Given the description of an element on the screen output the (x, y) to click on. 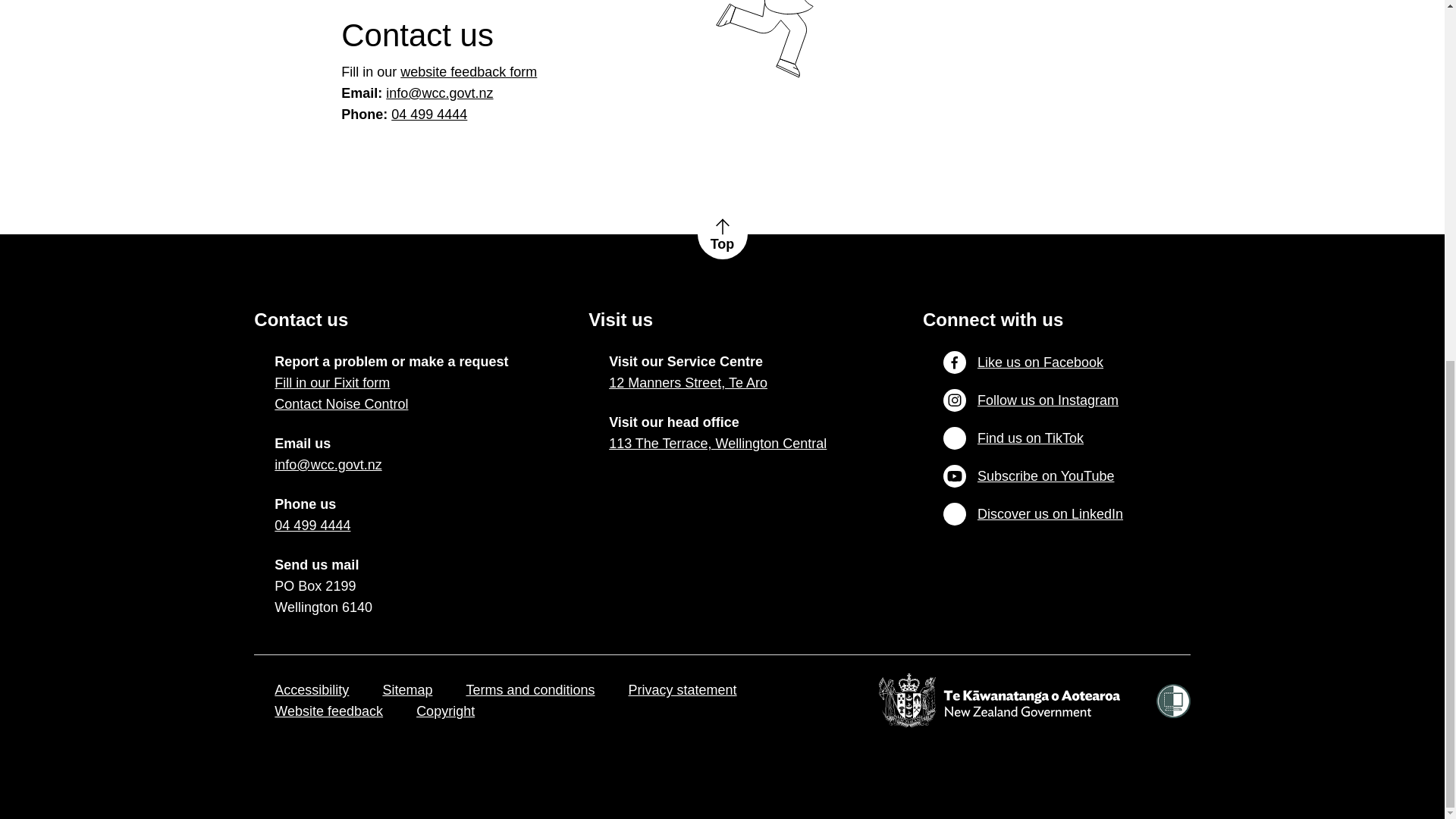
Link opens in a new window (328, 464)
Link opens in a new window (687, 382)
Link opens in a new window (328, 711)
Link opens in a new window (717, 443)
Link opens in a new window (312, 525)
